Given the description of an element on the screen output the (x, y) to click on. 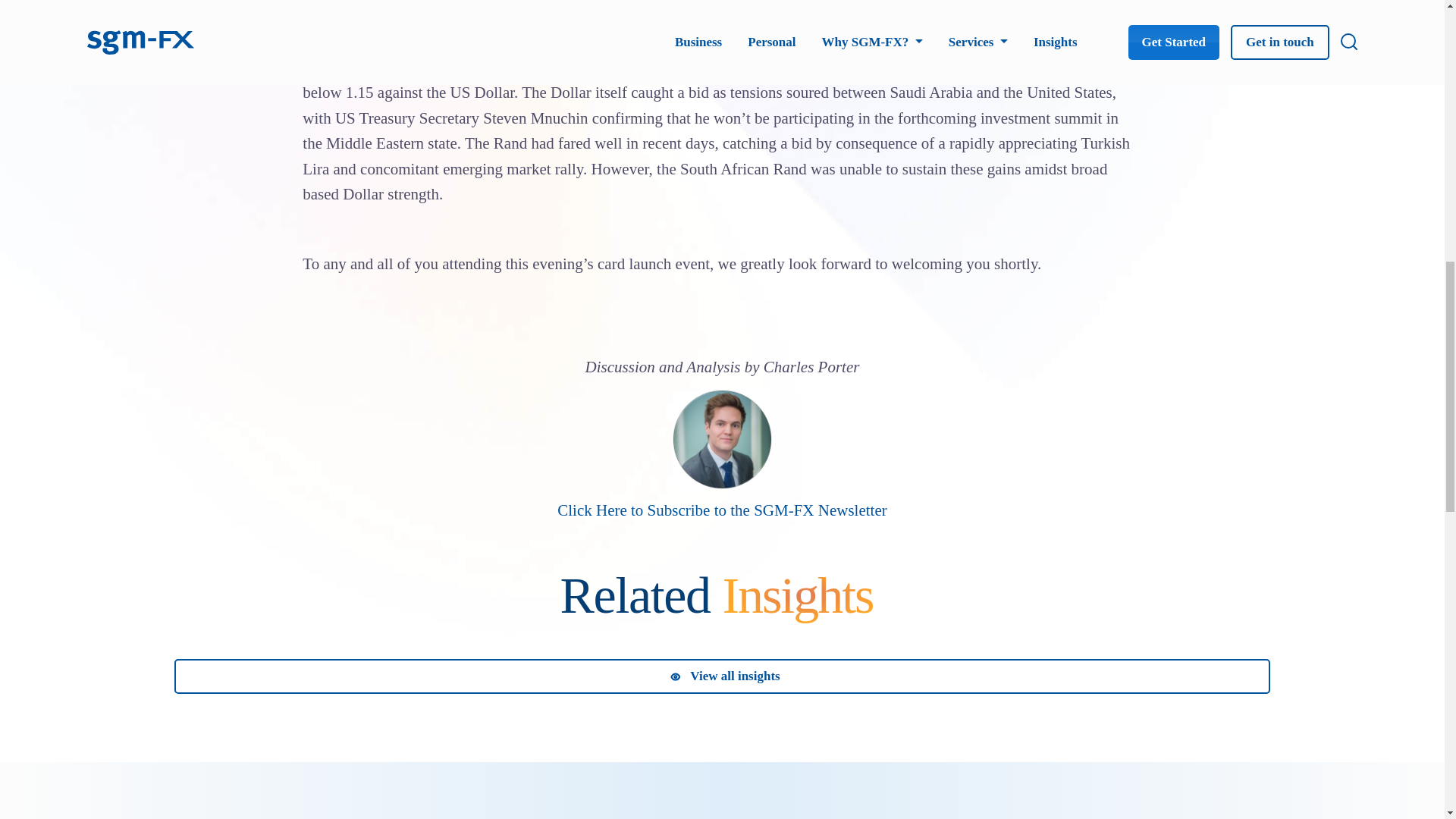
Click Here to Subscribe to the SGM-FX Newsletter (721, 510)
View all insights (721, 676)
